Given the description of an element on the screen output the (x, y) to click on. 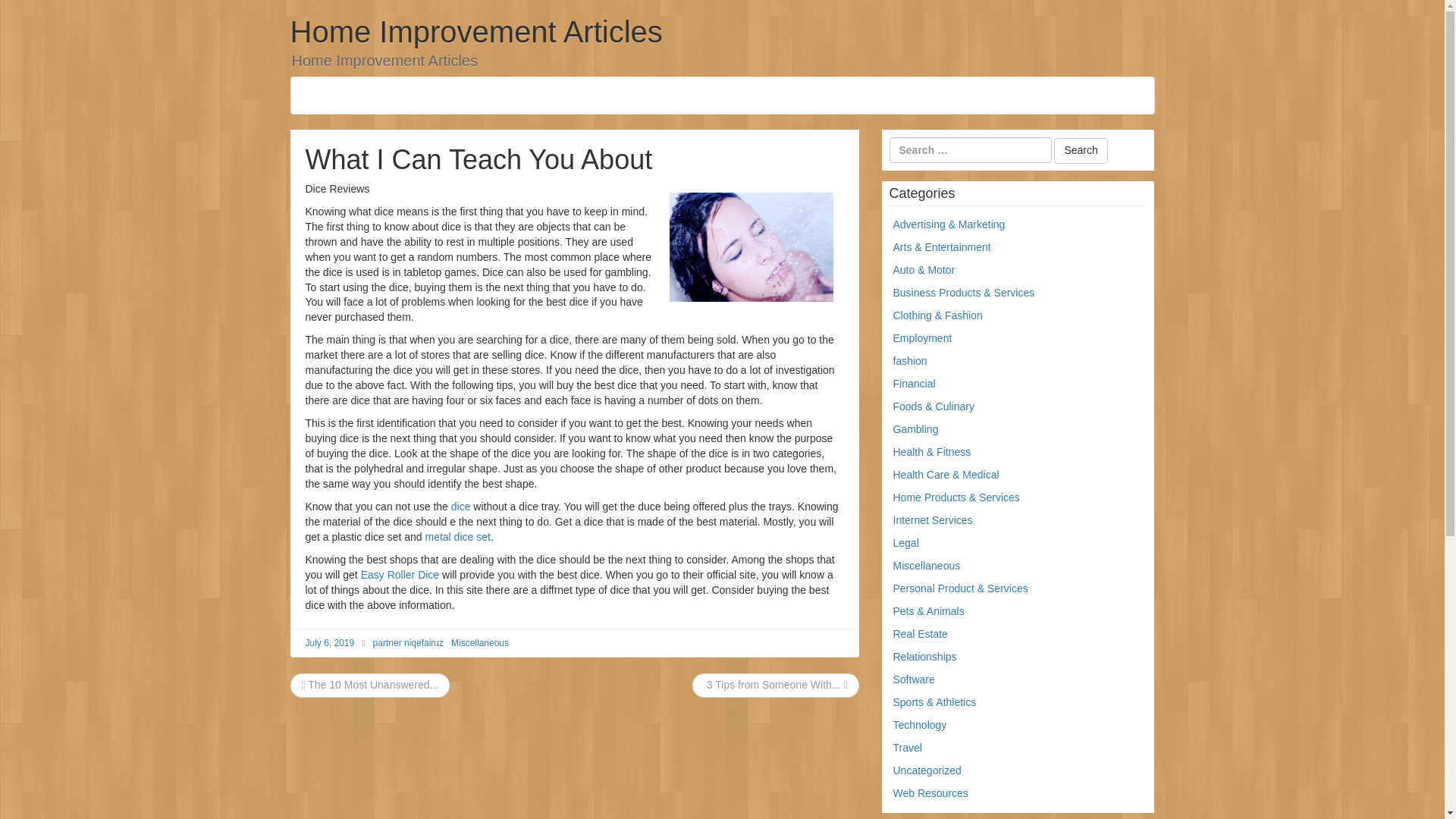
 3 Tips from Someone With...  (775, 684)
partner niqefairuz (408, 643)
fashion (910, 360)
Technology (920, 725)
Relationships (924, 656)
Search for: (969, 149)
Uncategorized (926, 770)
Search (1080, 150)
Employment (922, 337)
Miscellaneous (479, 643)
Home Improvement Articles (475, 31)
Real Estate (920, 633)
Easy Roller Dice (400, 574)
Miscellaneous (926, 565)
Legal (905, 542)
